Given the description of an element on the screen output the (x, y) to click on. 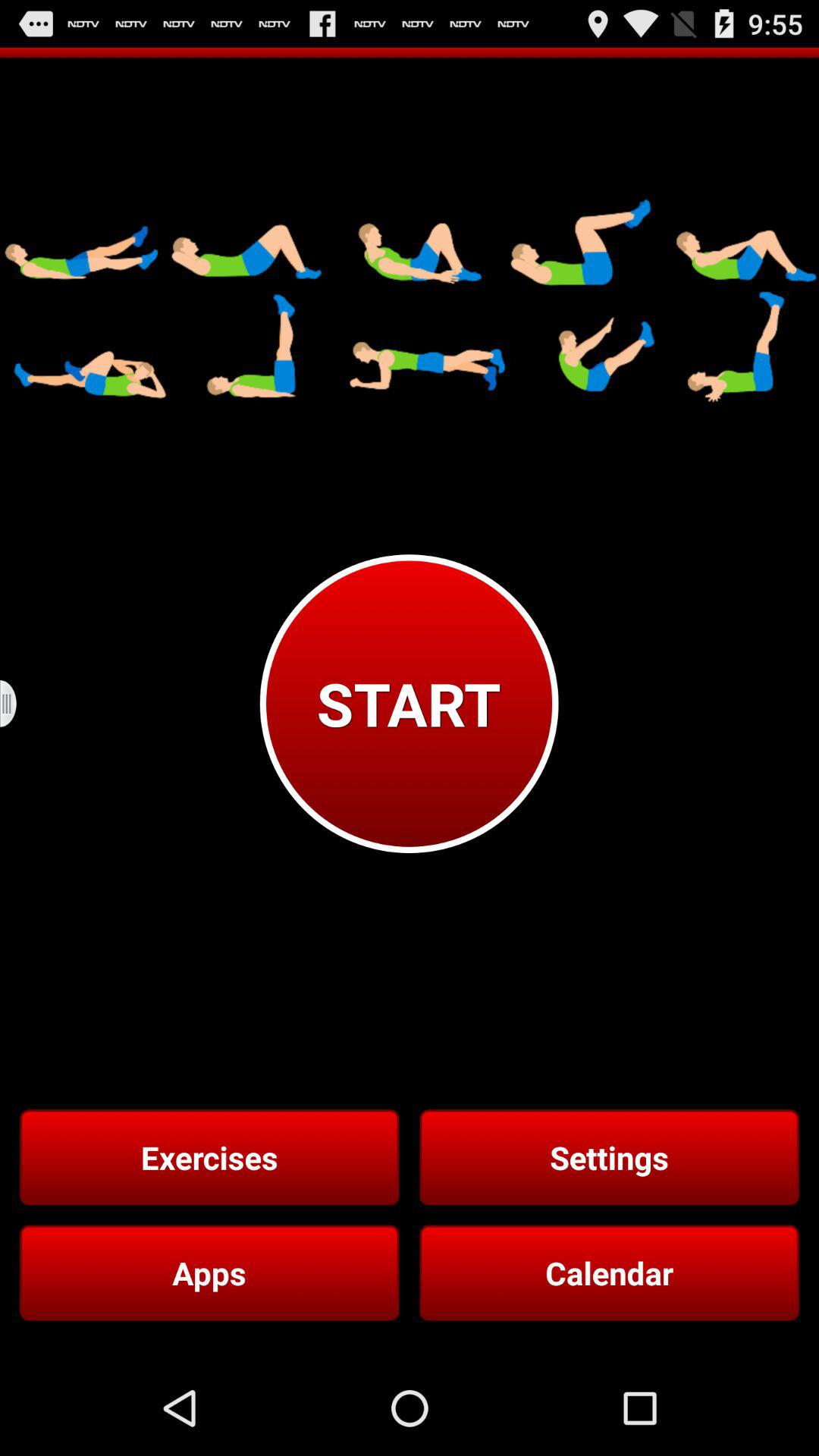
tap the icon to the left of calendar item (209, 1272)
